Given the description of an element on the screen output the (x, y) to click on. 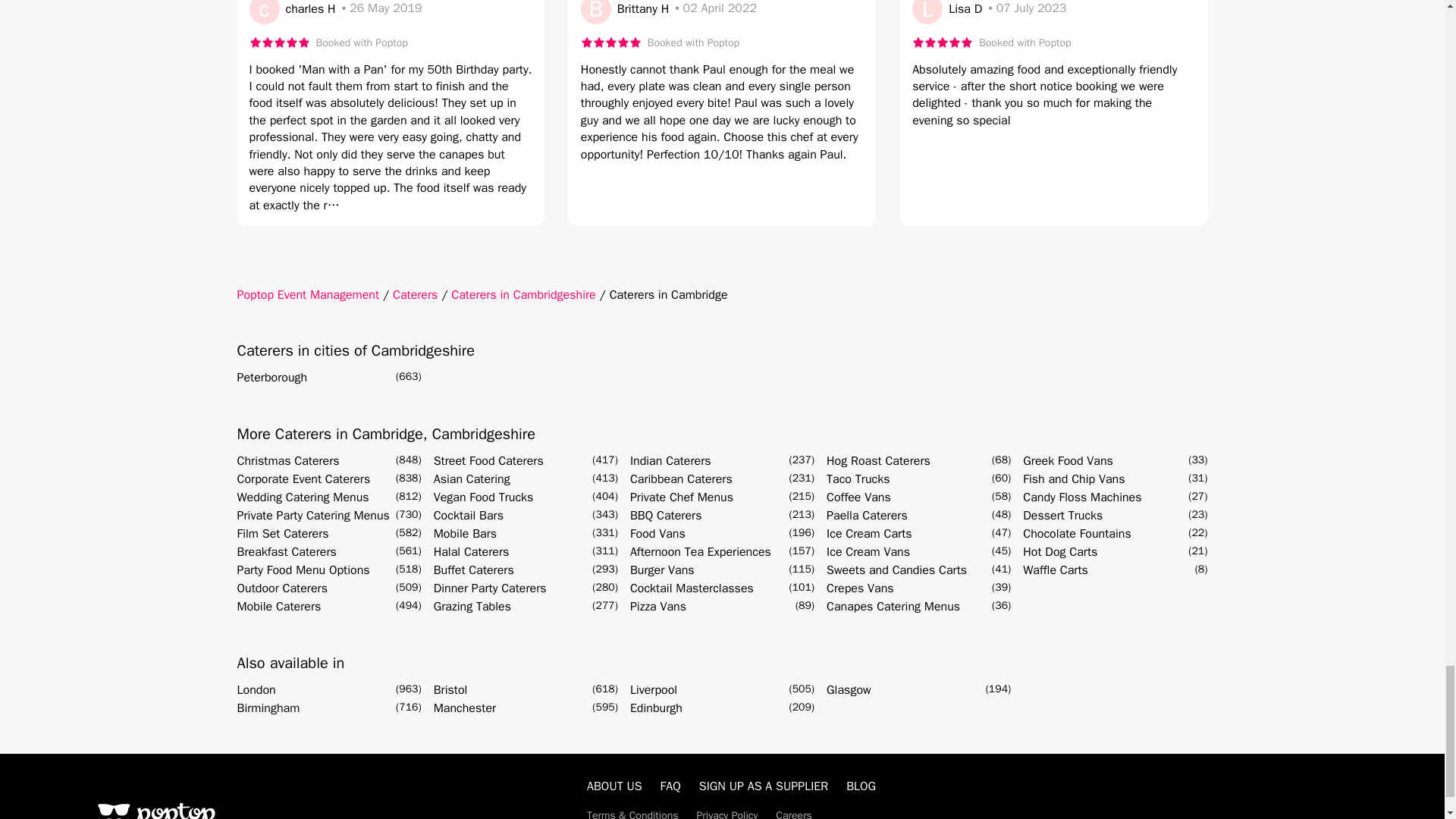
Grazing Tables (472, 606)
Taco Trucks (858, 479)
Vegan Food Trucks (483, 497)
BBQ Caterers (665, 515)
Peterborough (271, 377)
Mobile Bars (464, 533)
Corporate Event Caterers (302, 479)
Breakfast Caterers (285, 551)
Private Party Catering Menus (311, 515)
Coffee Vans (859, 497)
Poptop Event Management (306, 294)
Afternoon Tea Experiences (700, 551)
Dinner Party Caterers (490, 588)
Asian Catering (472, 479)
Outdoor Caterers (280, 588)
